Given the description of an element on the screen output the (x, y) to click on. 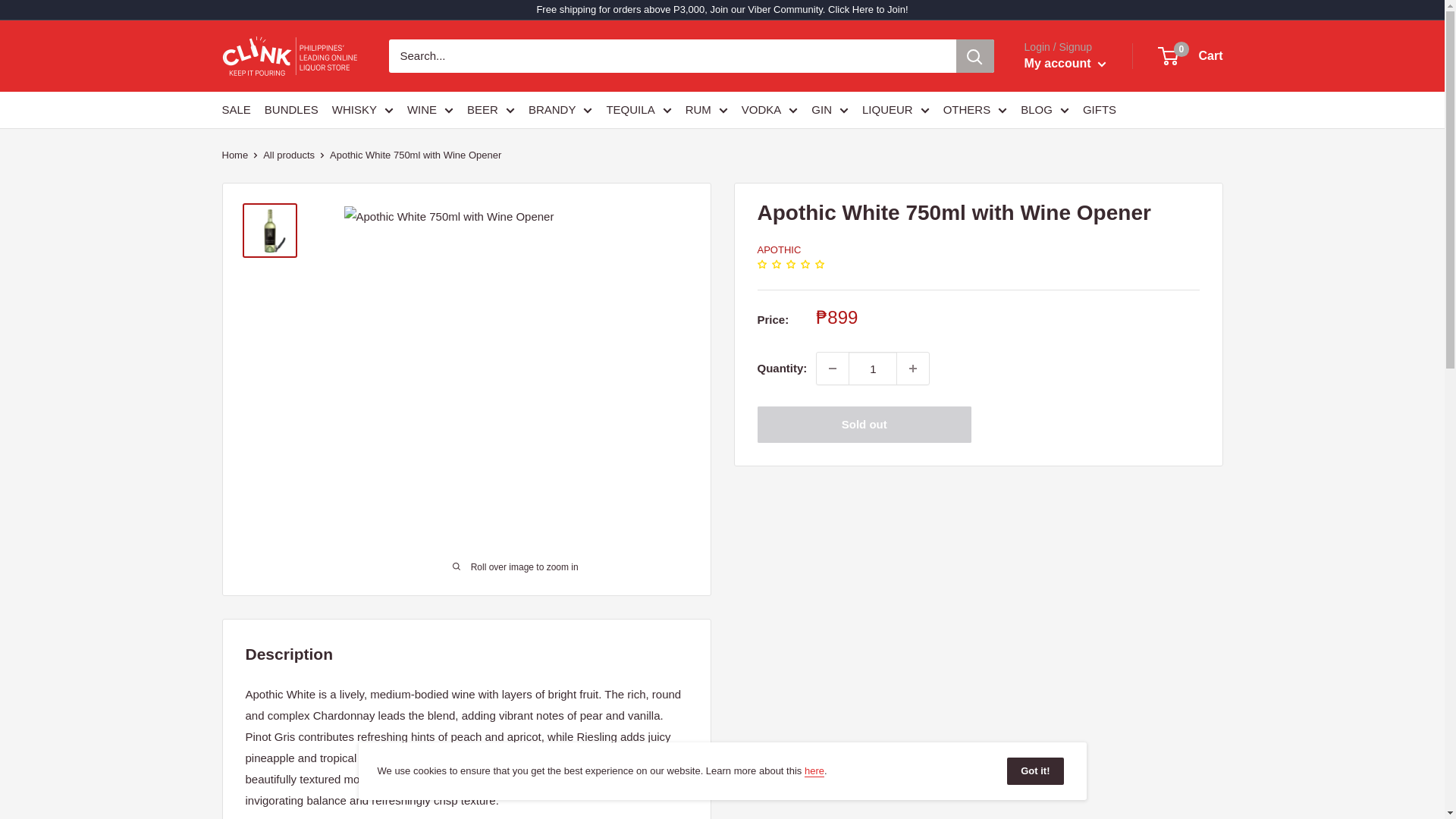
1 (872, 368)
Privacy Policy (814, 770)
Decrease quantity by 1 (832, 368)
Increase quantity by 1 (912, 368)
